Given the description of an element on the screen output the (x, y) to click on. 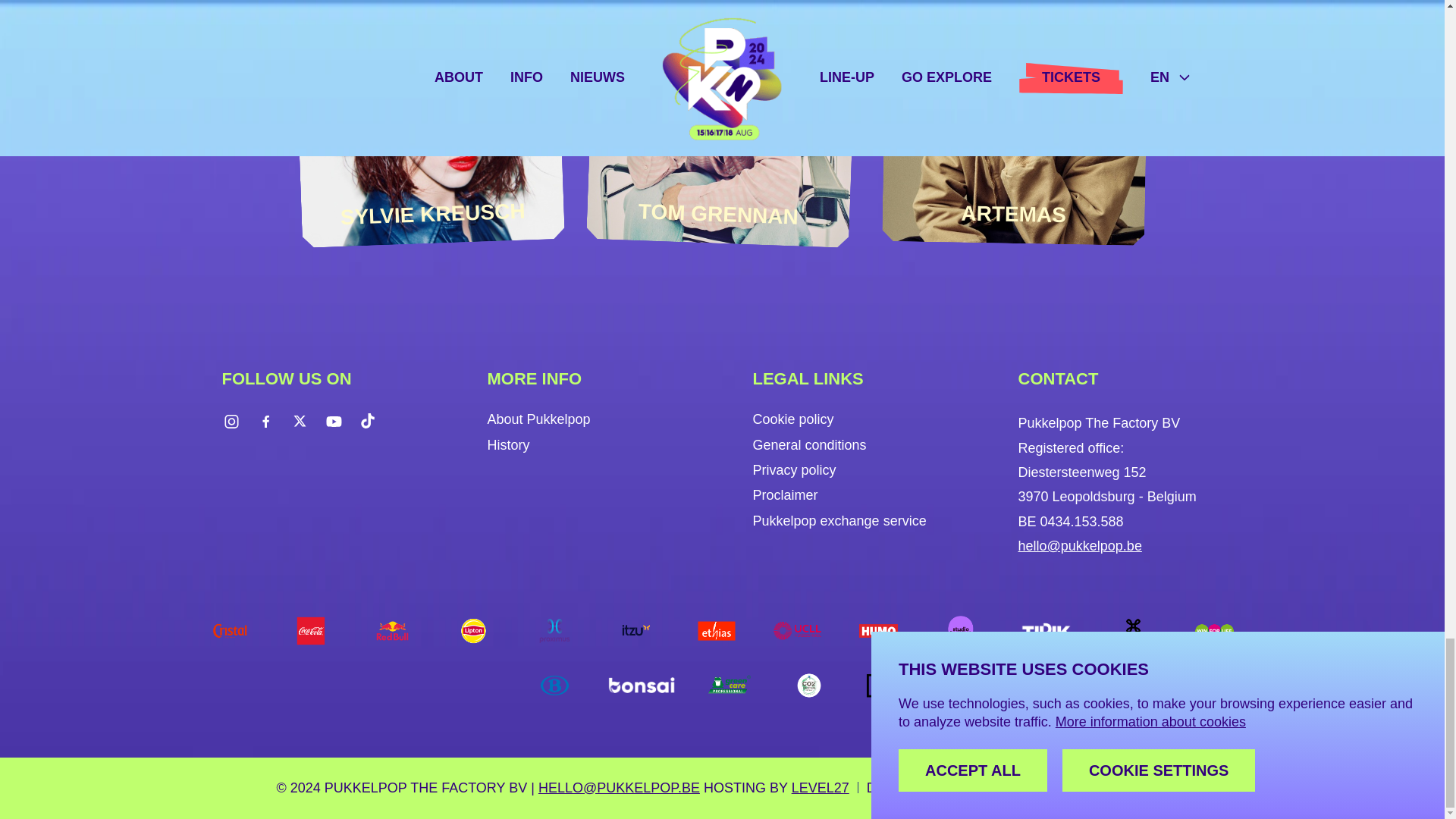
UCLL (796, 630)
Proximus (554, 630)
Lipton (473, 630)
Itzu (635, 630)
Humo (878, 630)
Coca-Cola (310, 630)
Ethias (716, 630)
Cristal (230, 630)
Red Bull (392, 630)
